Given the description of an element on the screen output the (x, y) to click on. 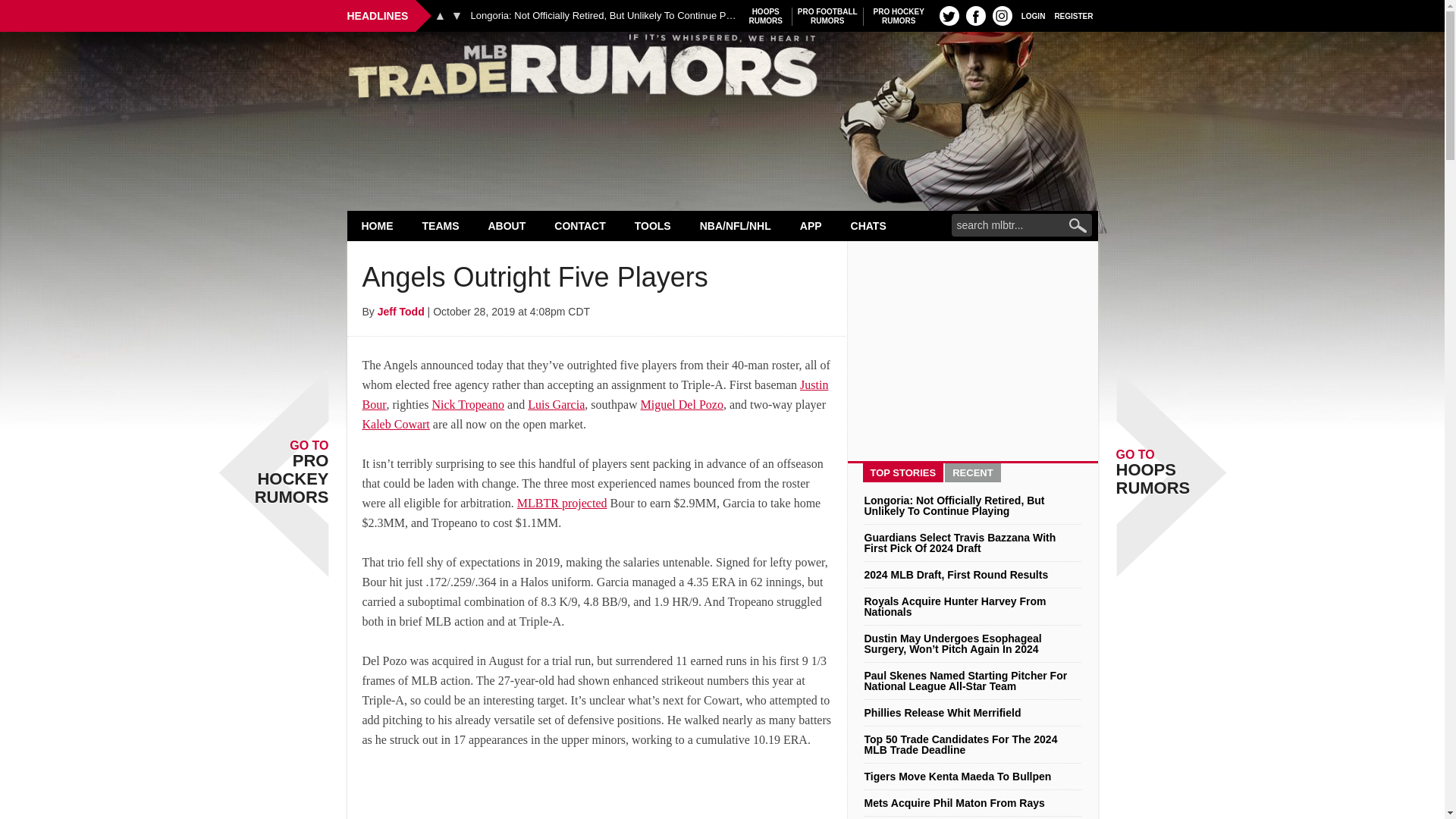
HOME (377, 225)
LOGIN (1032, 15)
3rd party ad content (597, 794)
Instagram profile (765, 16)
Search (1001, 15)
Previous (898, 16)
Twitter profile (439, 15)
FB profile (456, 15)
REGISTER (949, 15)
TEAMS (975, 15)
